Given the description of an element on the screen output the (x, y) to click on. 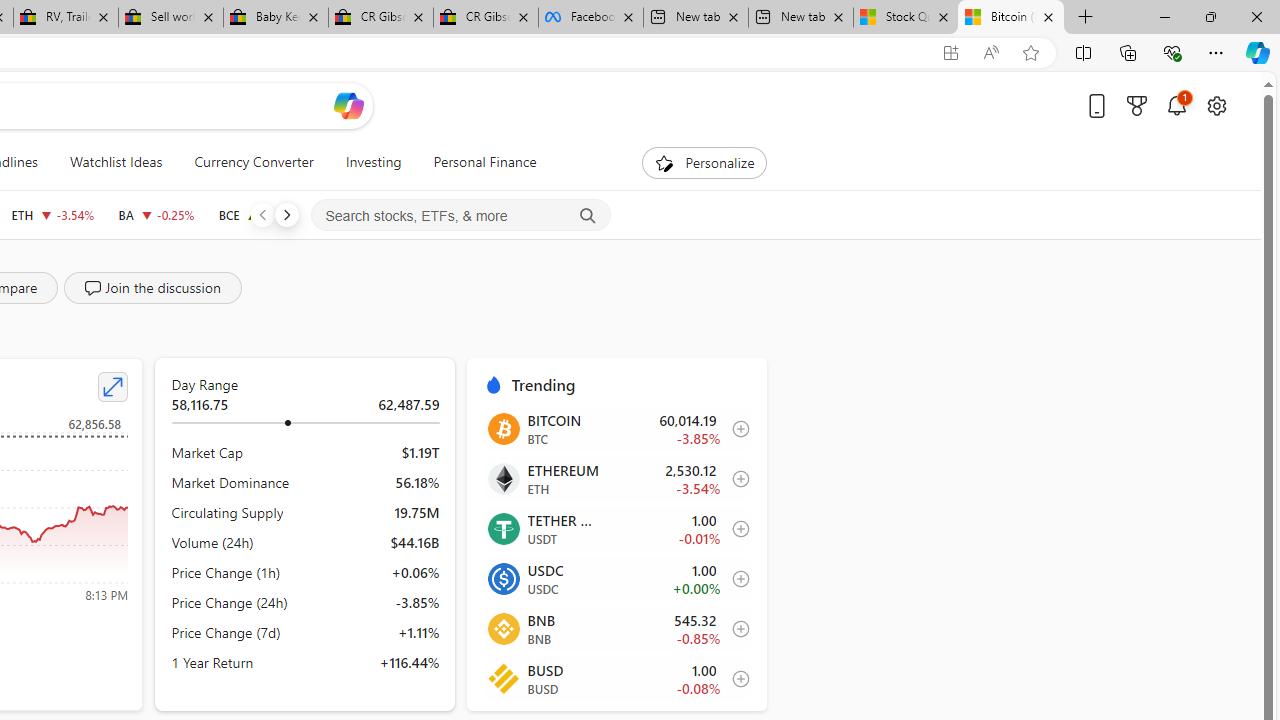
Facebook (590, 17)
Investing (373, 162)
Ethereum (502, 478)
Search stocks, ETFs, & more (461, 215)
Previous (262, 214)
USDC USDC increase 1.00 +0.00 +0.00% itemundefined (616, 579)
Watchlist Ideas (115, 162)
